Given the description of an element on the screen output the (x, y) to click on. 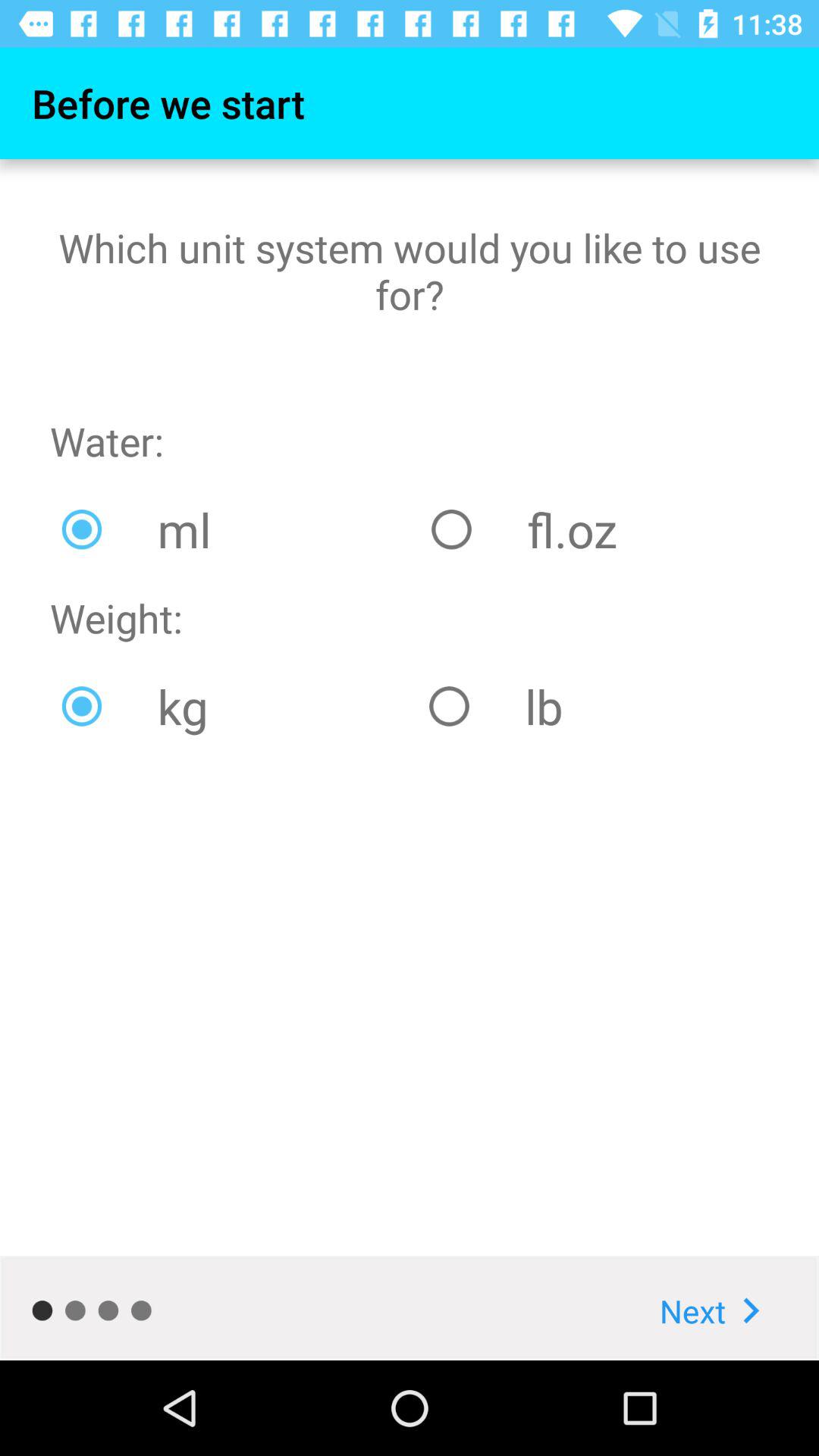
select the ml icon (234, 529)
